Given the description of an element on the screen output the (x, y) to click on. 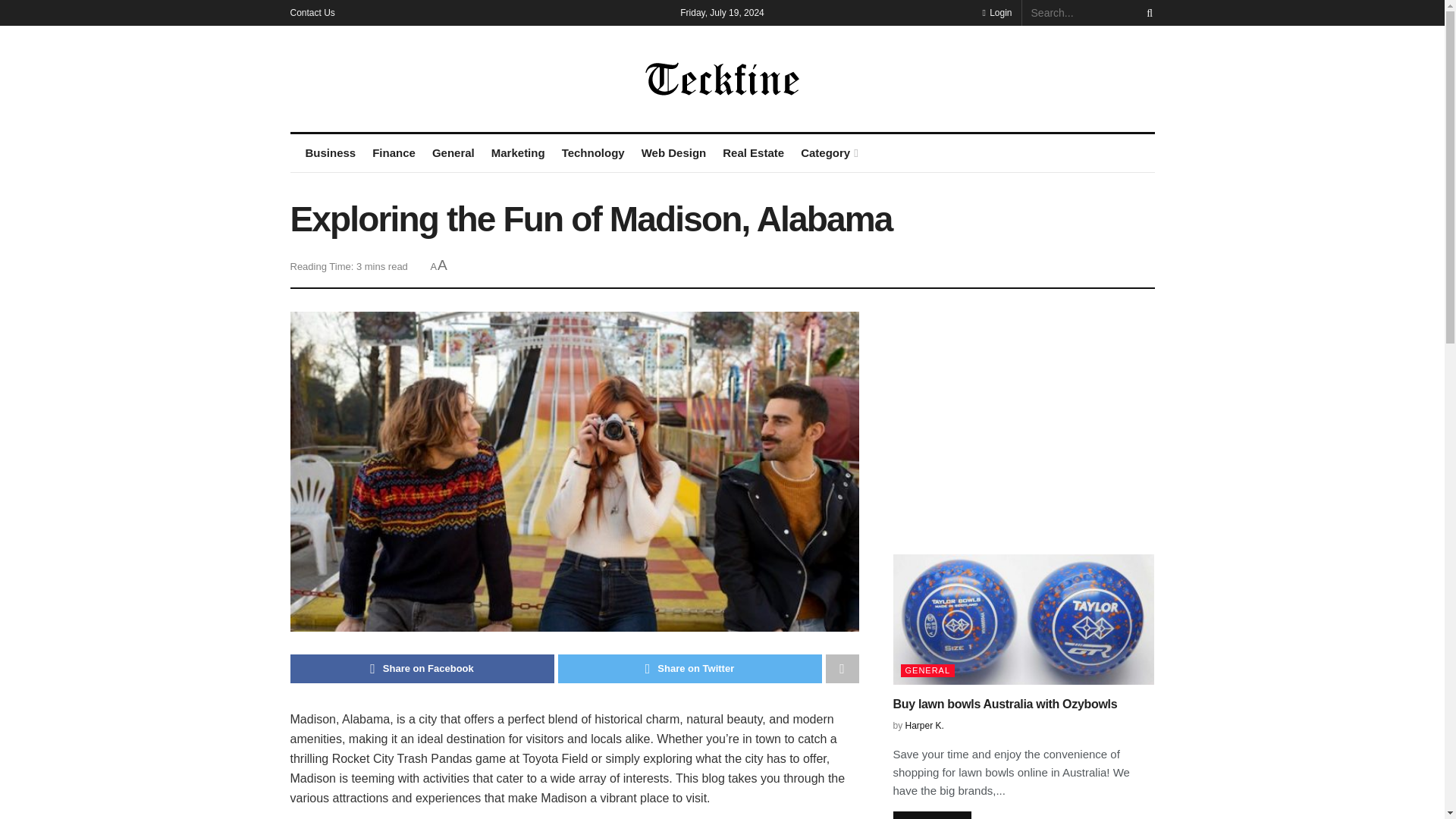
Finance (393, 152)
General (453, 152)
Contact Us (311, 12)
Category (828, 152)
Technology (593, 152)
Advertisement (1023, 418)
Login (996, 12)
Web Design (674, 152)
Business (329, 152)
Marketing (518, 152)
Real Estate (753, 152)
